Given the description of an element on the screen output the (x, y) to click on. 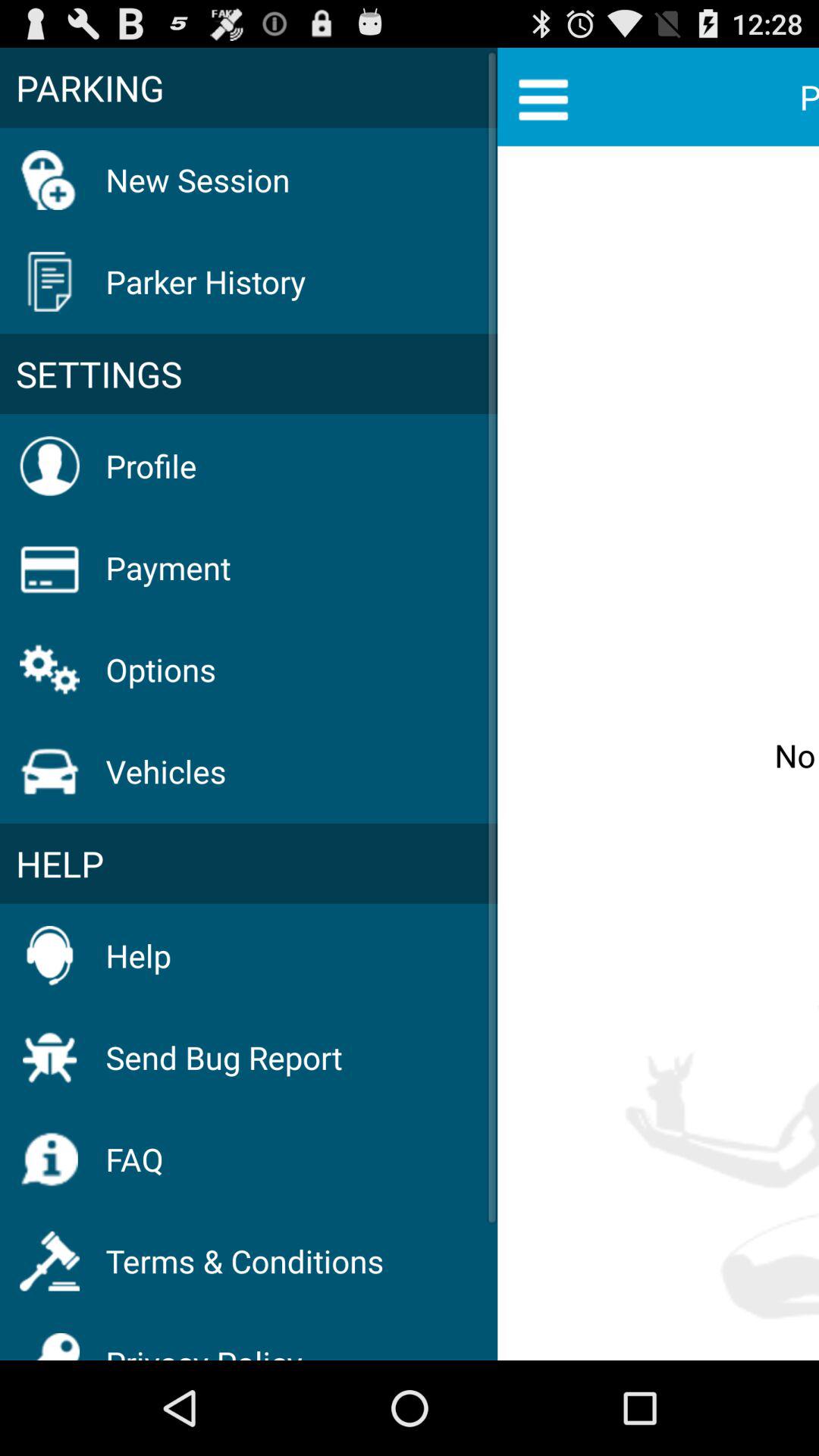
click the icon above vehicles item (160, 668)
